Given the description of an element on the screen output the (x, y) to click on. 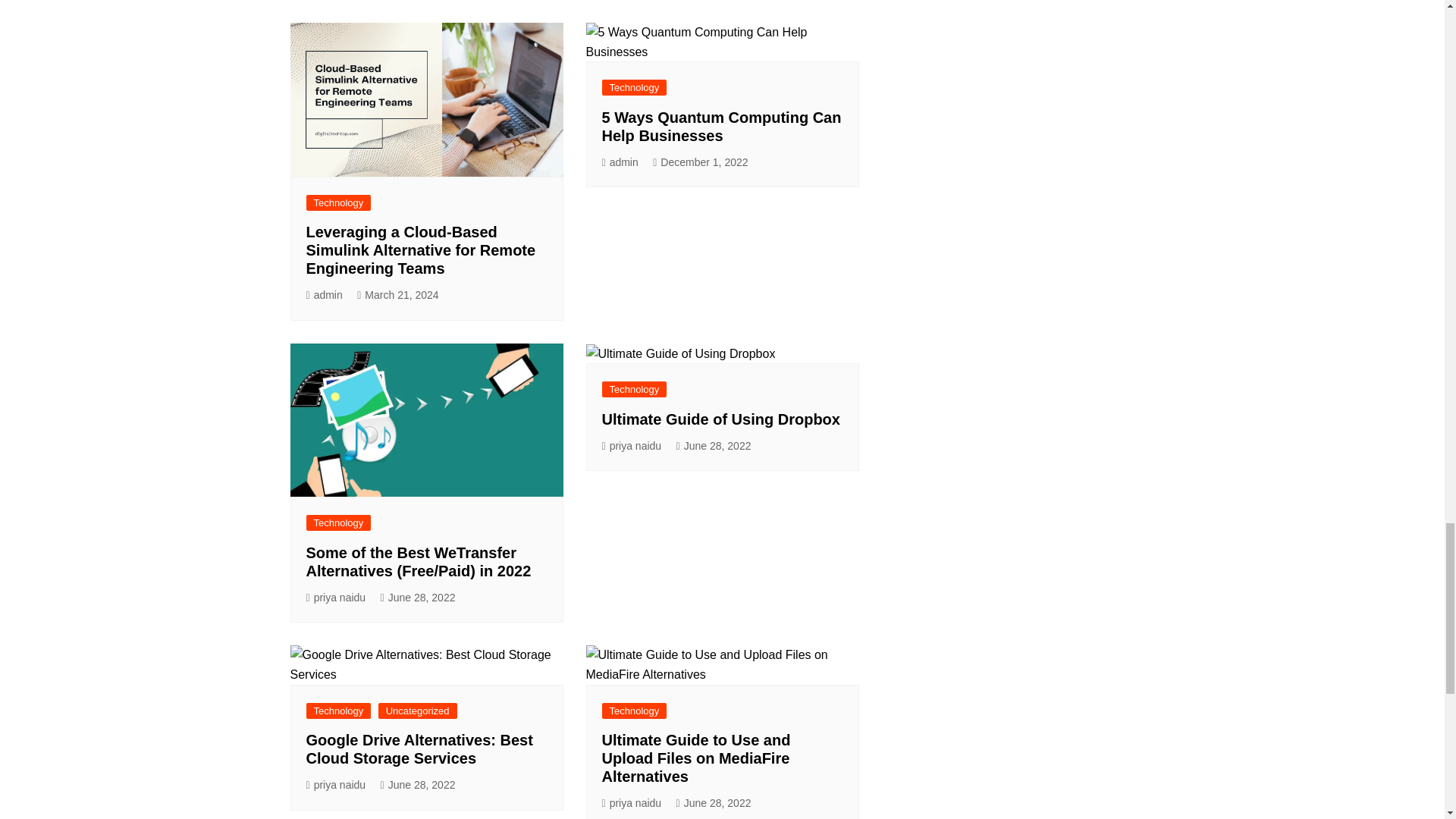
admin (620, 162)
Technology (634, 87)
March 21, 2024 (397, 294)
Technology (338, 522)
admin (323, 294)
Technology (338, 202)
5 Ways Quantum Computing Can Help Businesses (721, 126)
December 1, 2022 (700, 162)
